Given the description of an element on the screen output the (x, y) to click on. 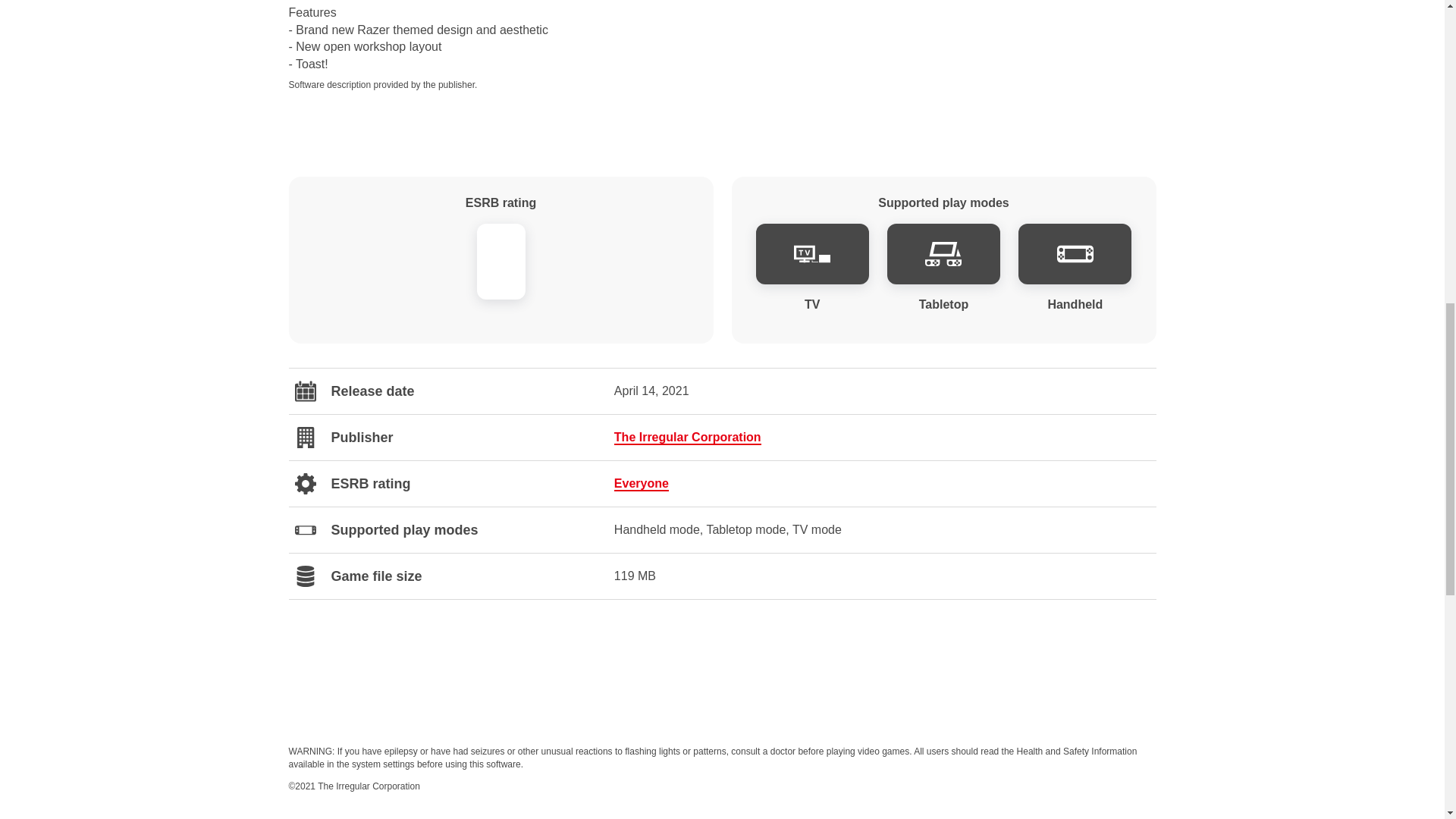
The Irregular Corporation (687, 437)
Everyone (641, 483)
